Given the description of an element on the screen output the (x, y) to click on. 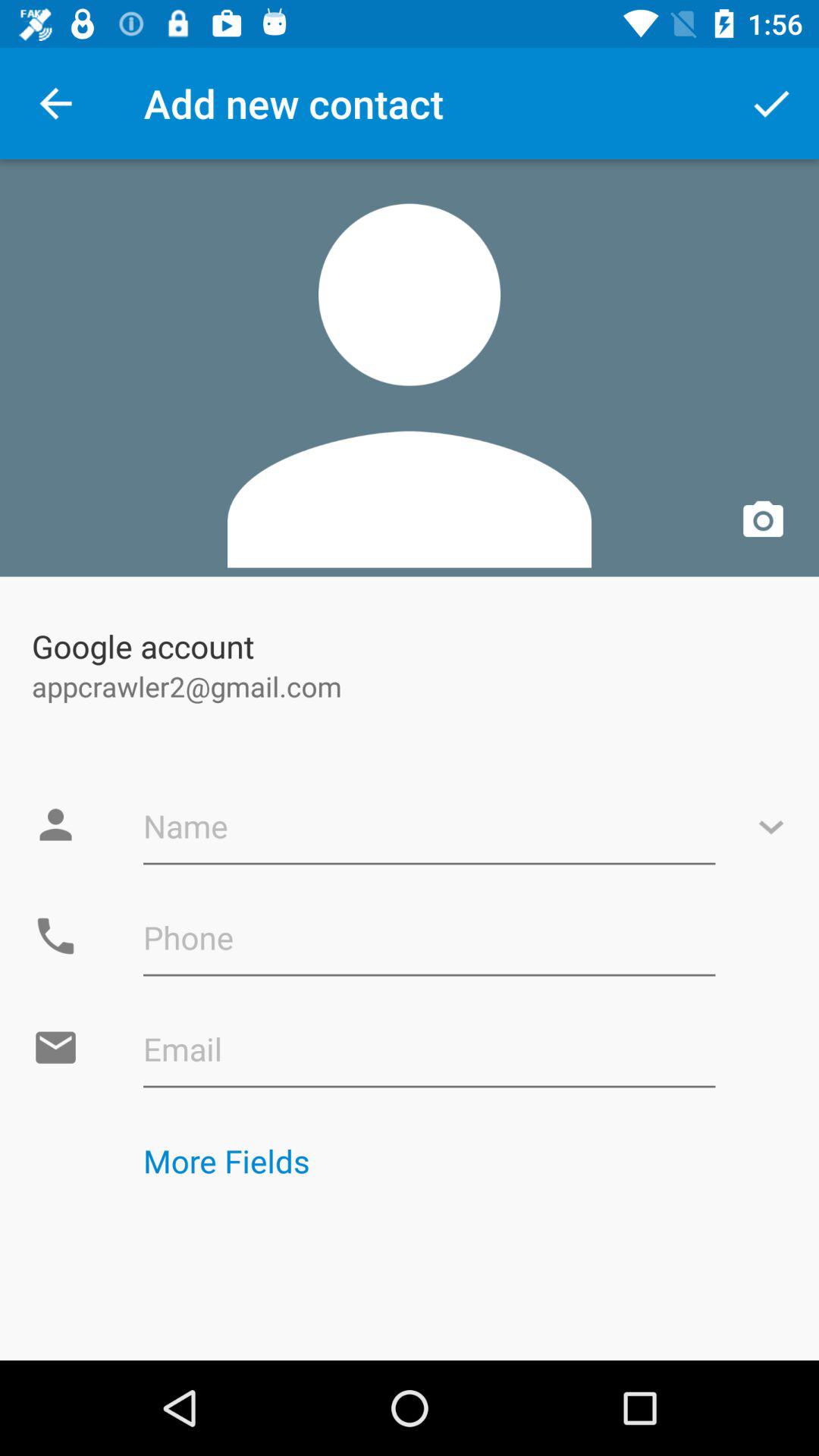
turn on app above google account (409, 367)
